Given the description of an element on the screen output the (x, y) to click on. 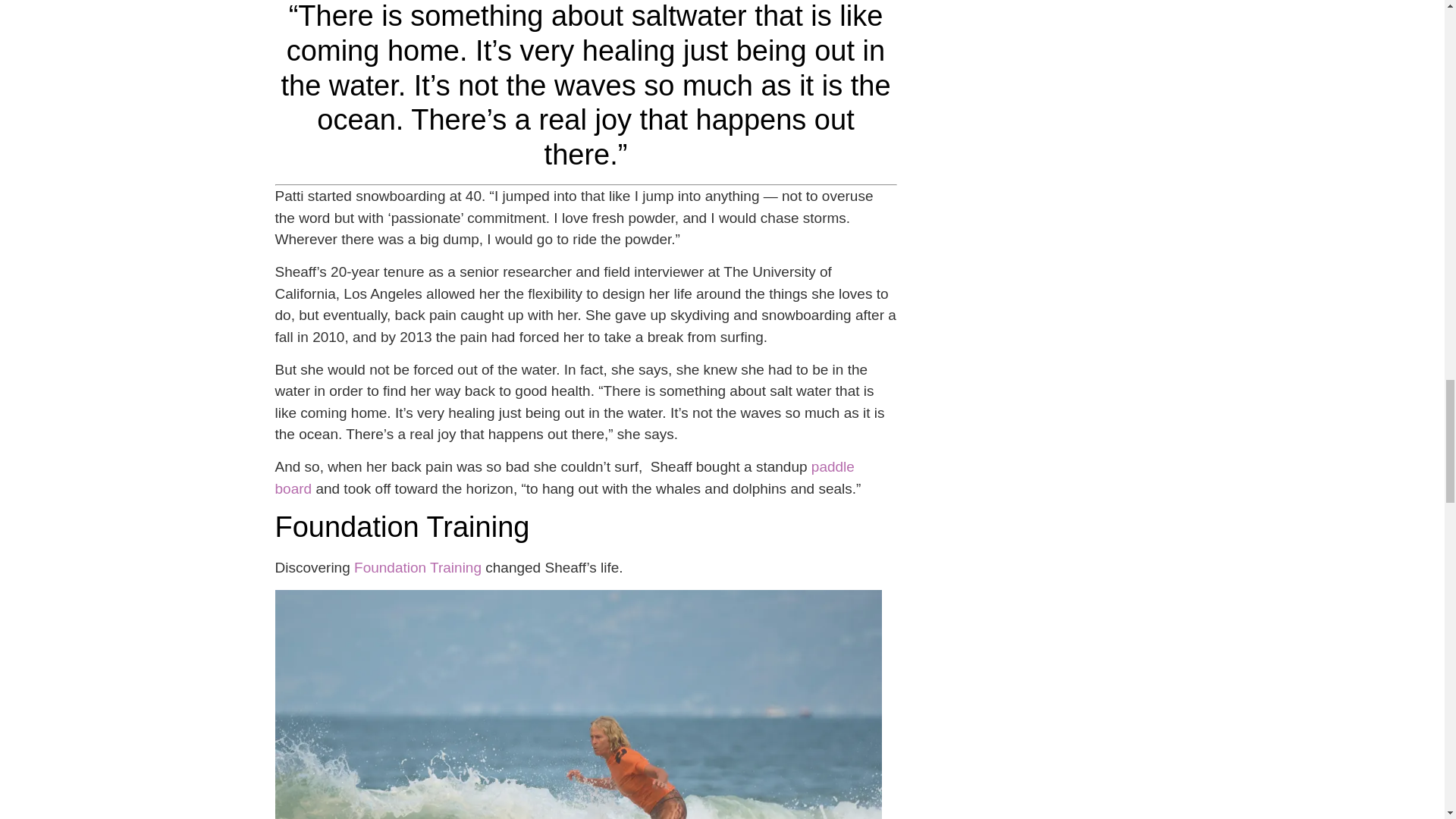
Foundation Training (417, 567)
paddle board (564, 477)
